Given the description of an element on the screen output the (x, y) to click on. 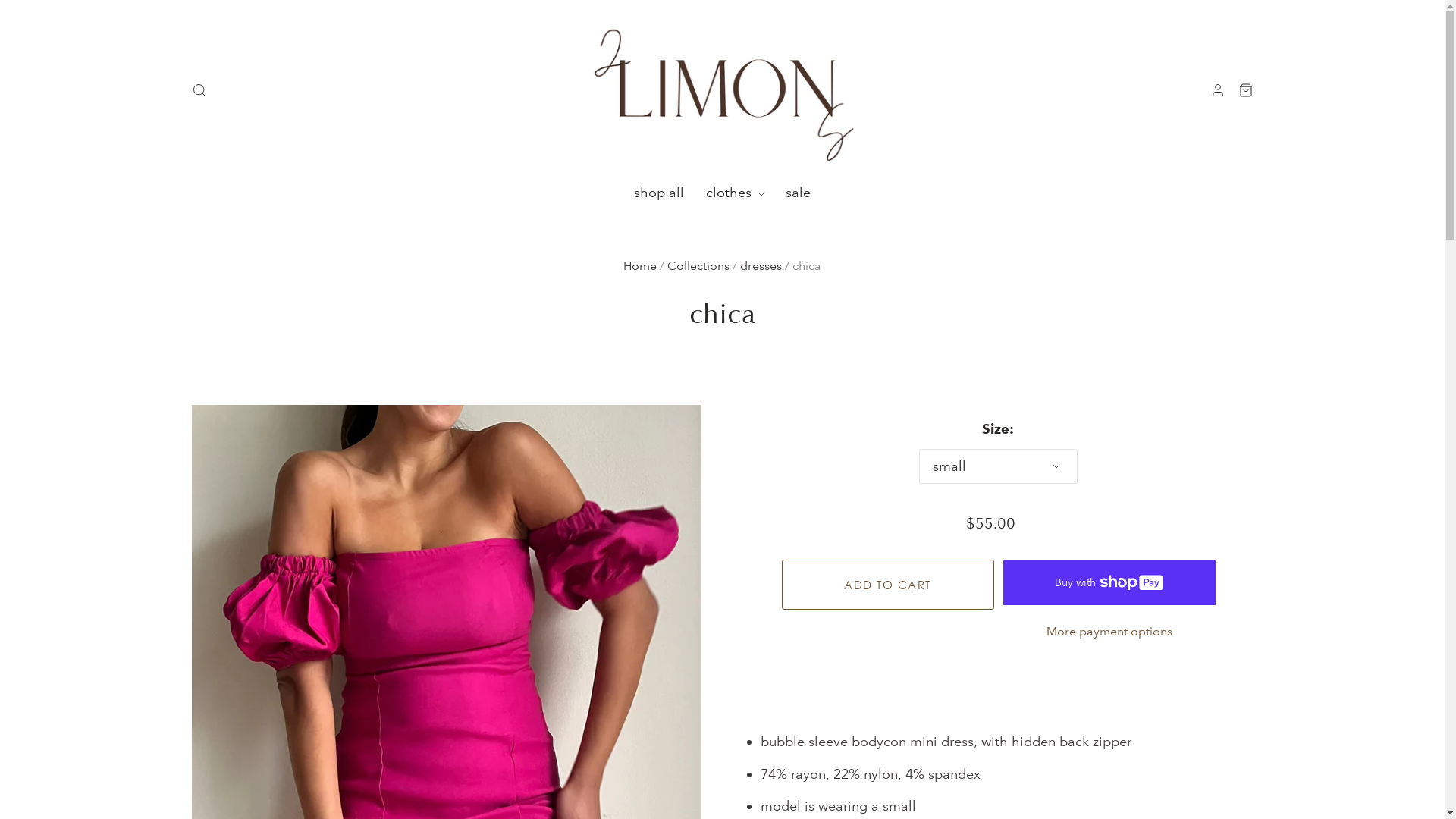
Add to cart Element type: text (887, 584)
Home Element type: text (639, 265)
dresses Element type: text (760, 265)
clothes Element type: text (726, 193)
Collections Element type: text (698, 265)
sale Element type: text (787, 193)
shop all Element type: text (658, 193)
More payment options Element type: text (1108, 631)
